Given the description of an element on the screen output the (x, y) to click on. 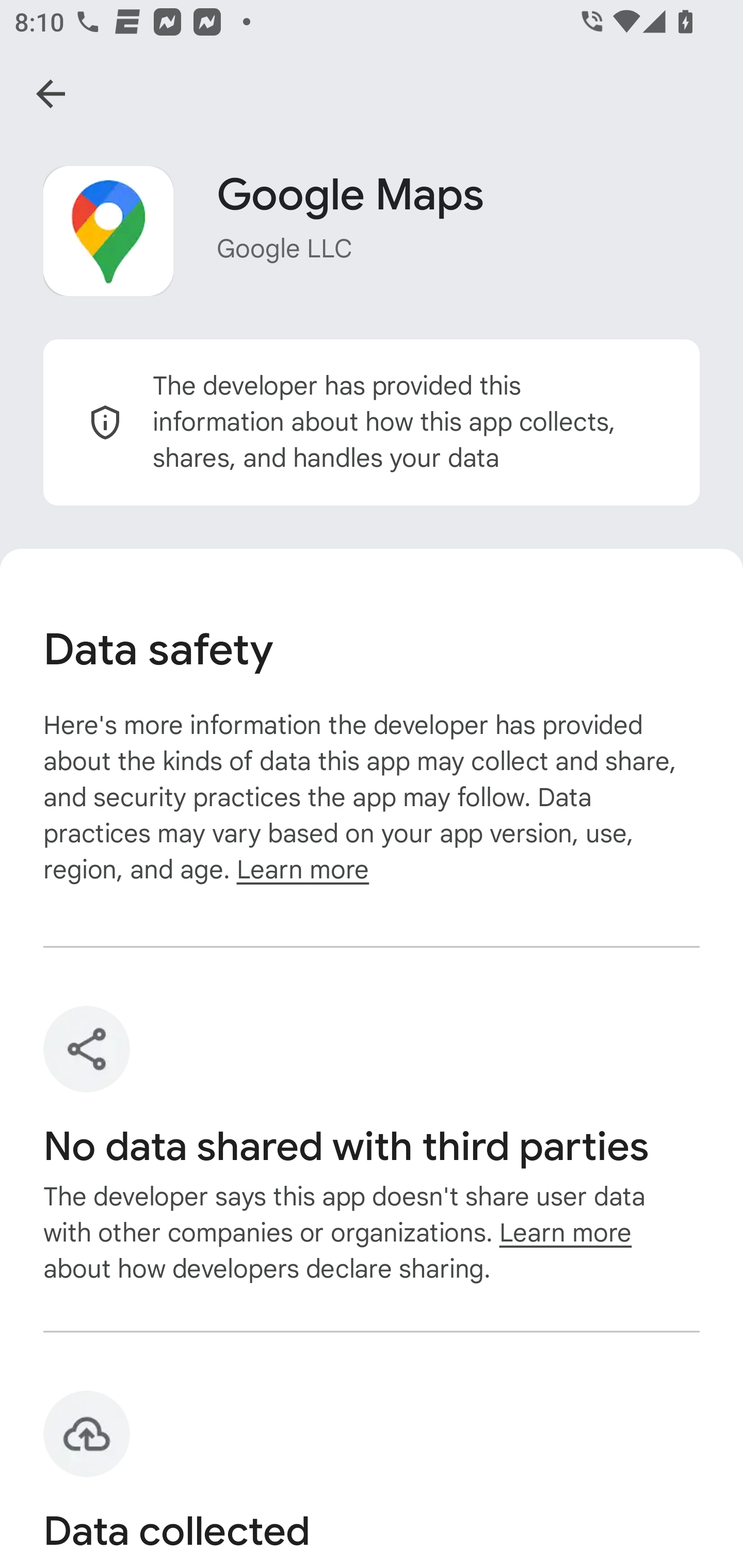
Navigate up (50, 93)
